Given the description of an element on the screen output the (x, y) to click on. 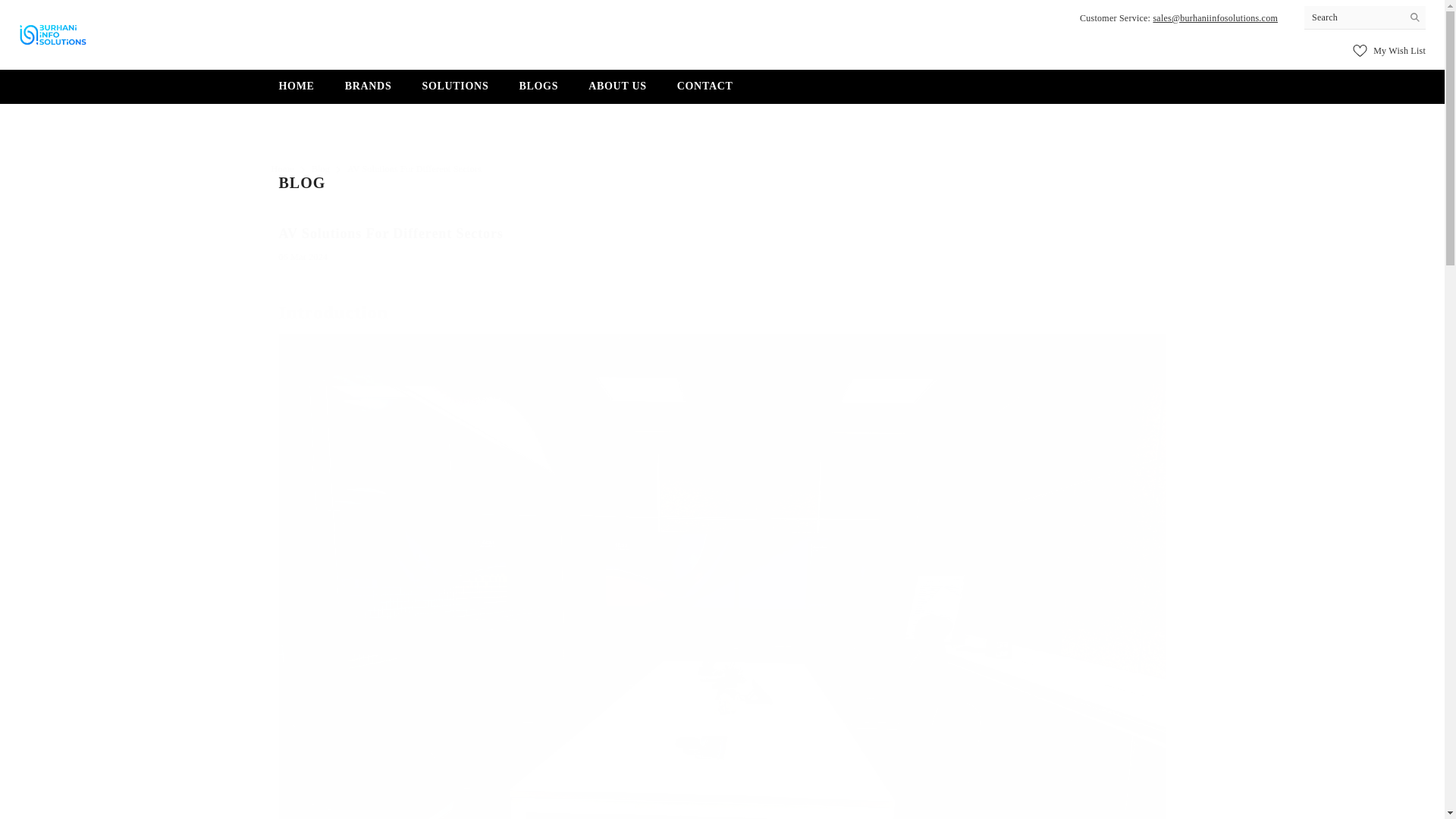
HOME (296, 91)
Home (282, 168)
BLOGS (538, 90)
CONTACT (705, 90)
Blog (320, 168)
ABOUT US (617, 90)
BRANDS (368, 91)
My Wish List (1388, 50)
SOLUTIONS (454, 90)
